Given the description of an element on the screen output the (x, y) to click on. 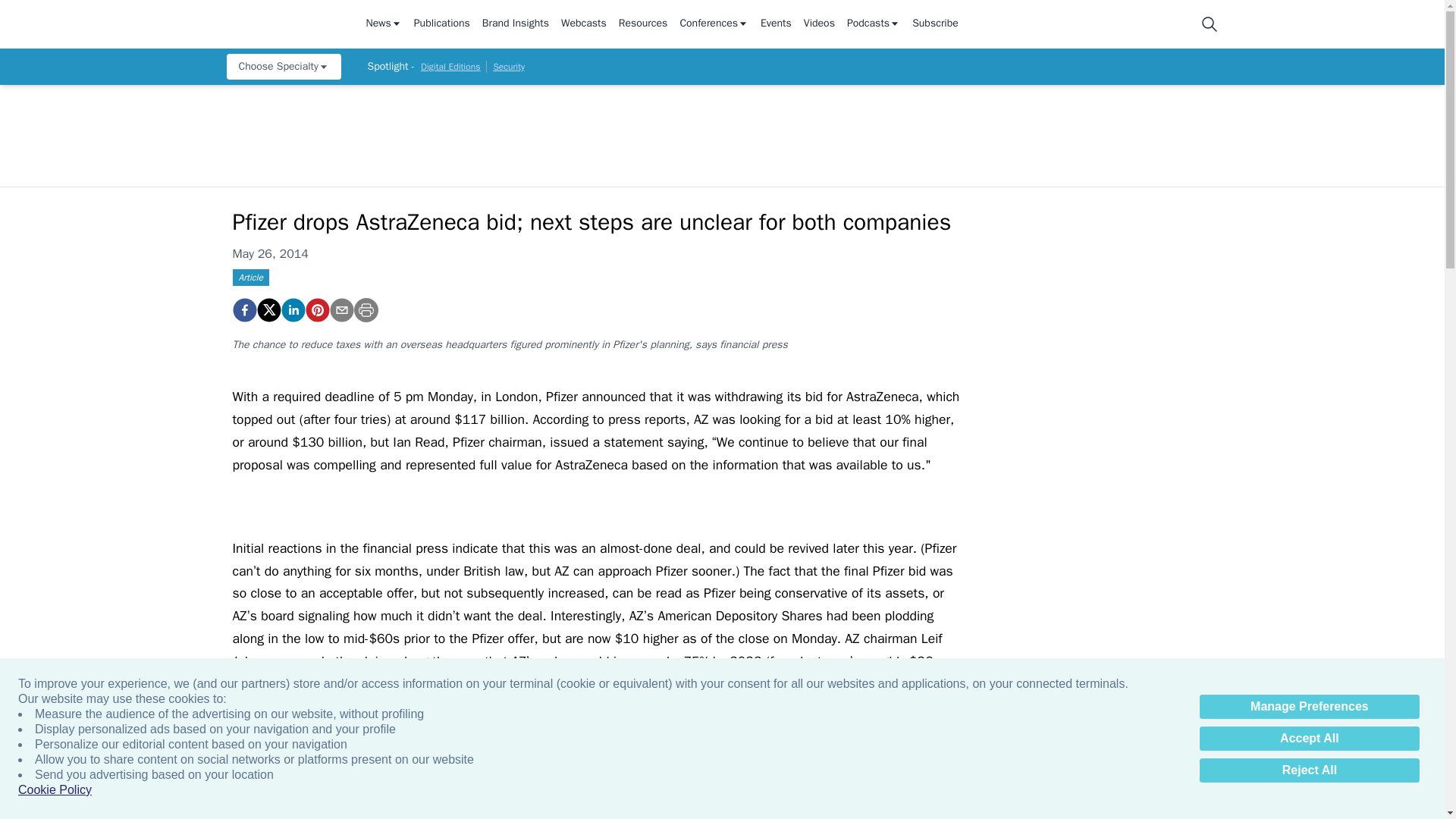
Manage Preferences (1309, 706)
Videos (818, 23)
Accept All (1309, 738)
Conferences (713, 23)
Choose Specialty (282, 66)
Digital Editions (450, 66)
Security (508, 66)
Publications (441, 23)
Cookie Policy (54, 789)
Brand Insights (514, 23)
Podcasts (873, 23)
Events (776, 23)
Webcasts (583, 23)
News (383, 23)
